Given the description of an element on the screen output the (x, y) to click on. 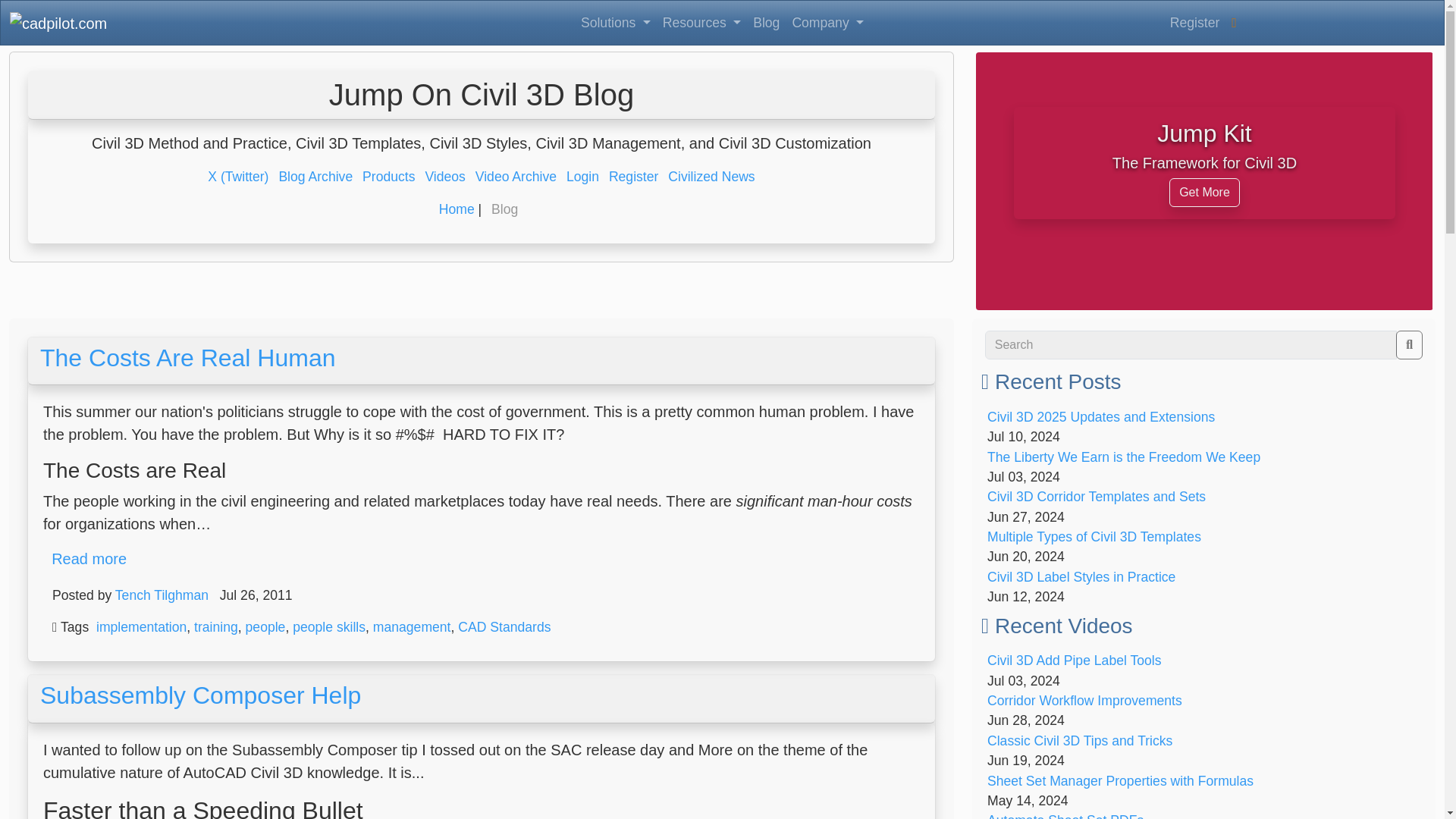
Register (633, 176)
Login (582, 176)
Blog Archive (315, 176)
Resources (701, 22)
Solutions (615, 22)
Video Archive (516, 176)
Register (1194, 22)
Resources (701, 22)
Blog (766, 22)
Get More (1204, 192)
Videos (444, 176)
cadpilot logo (58, 22)
Products (388, 176)
Civilized News (711, 176)
Company (827, 22)
